Given the description of an element on the screen output the (x, y) to click on. 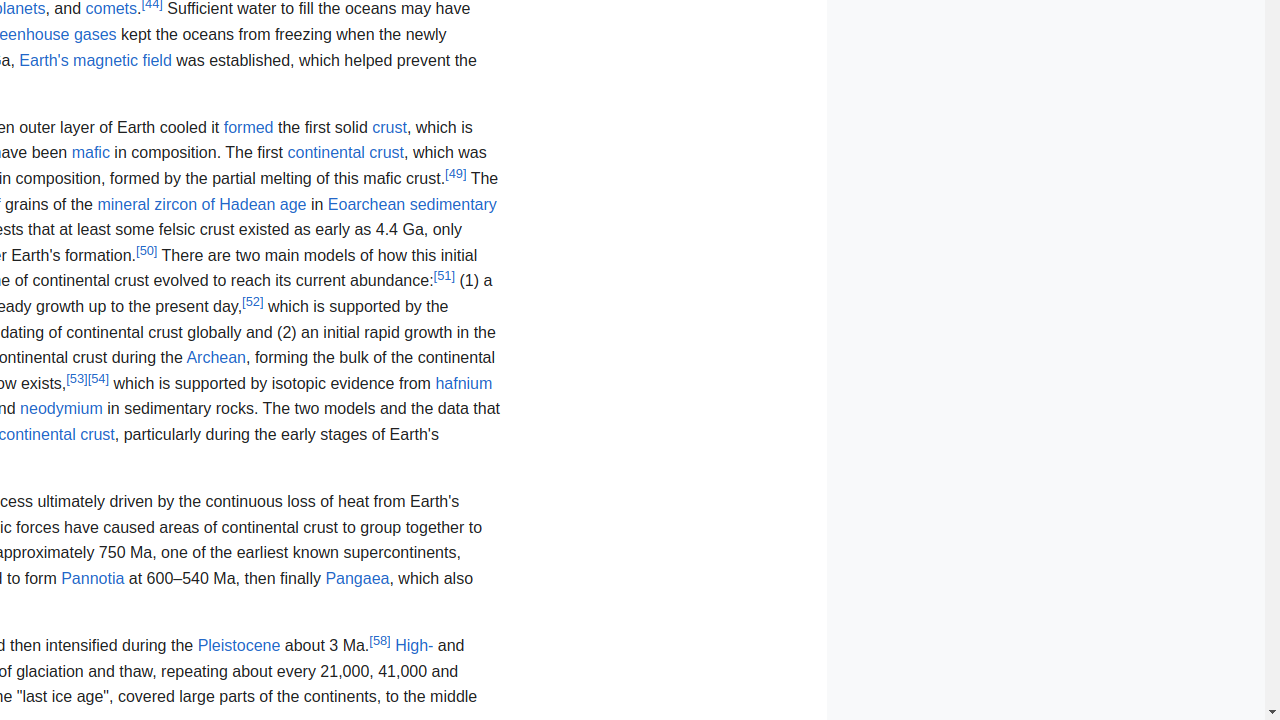
[52] Element type: link (253, 301)
[53] Element type: link (77, 377)
neodymium Element type: link (61, 409)
Earth's magnetic field Element type: link (95, 60)
comets Element type: link (111, 9)
